Given the description of an element on the screen output the (x, y) to click on. 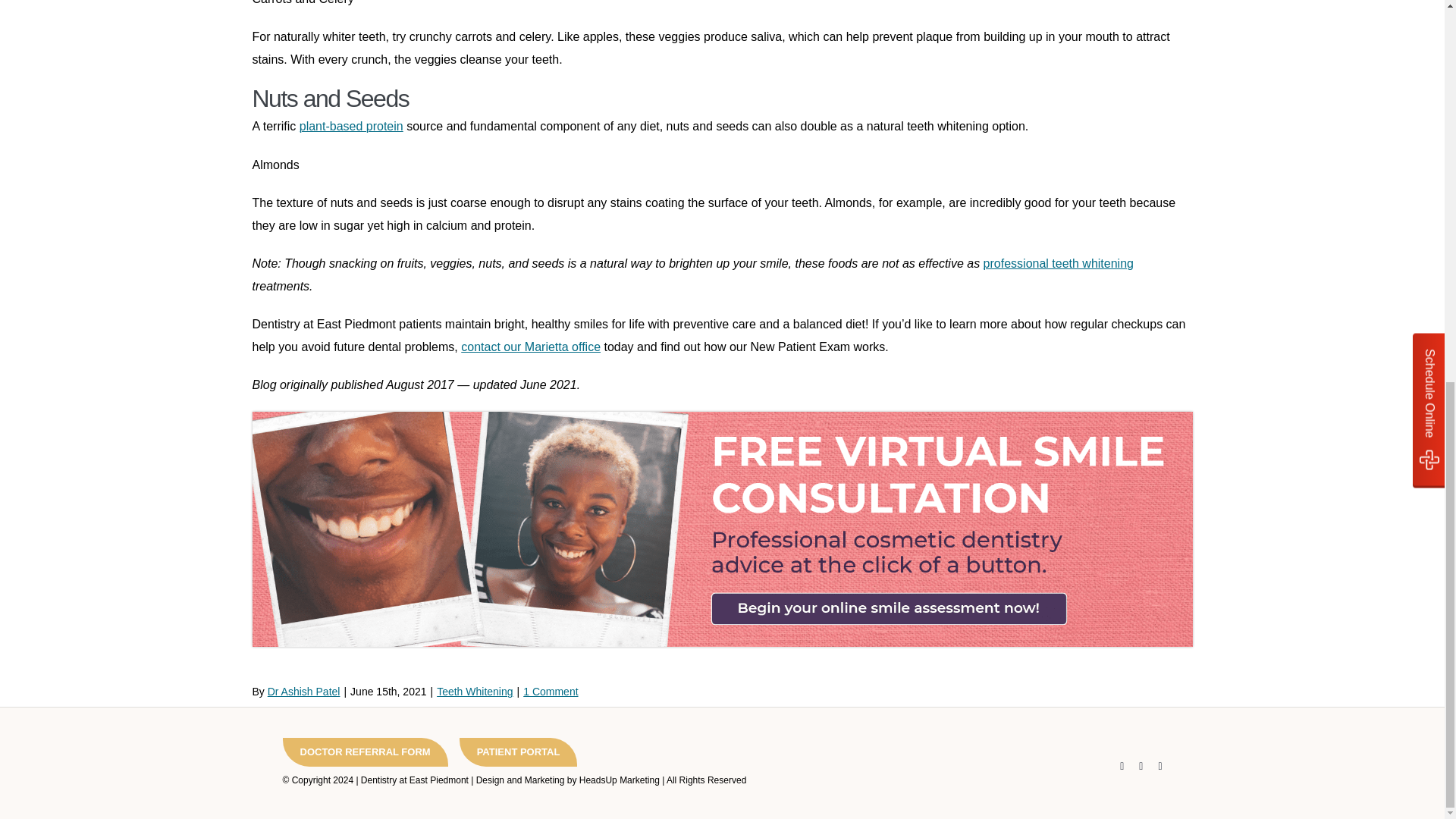
Posts by Dr Ashish Patel (303, 691)
